Given the description of an element on the screen output the (x, y) to click on. 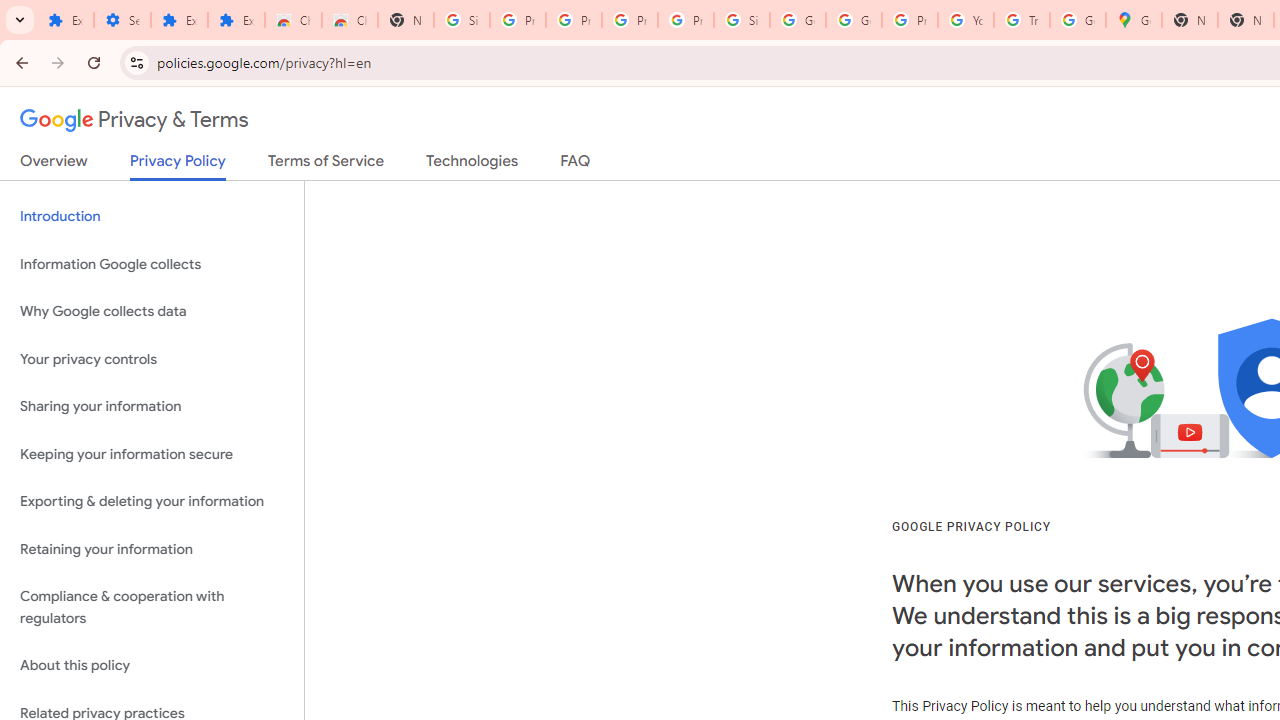
Technologies (472, 165)
Introduction (152, 216)
FAQ (575, 165)
Privacy & Terms (134, 120)
Sign in - Google Accounts (461, 20)
Sharing your information (152, 407)
Extensions (179, 20)
Google Maps (1133, 20)
Chrome Web Store - Themes (349, 20)
